Given the description of an element on the screen output the (x, y) to click on. 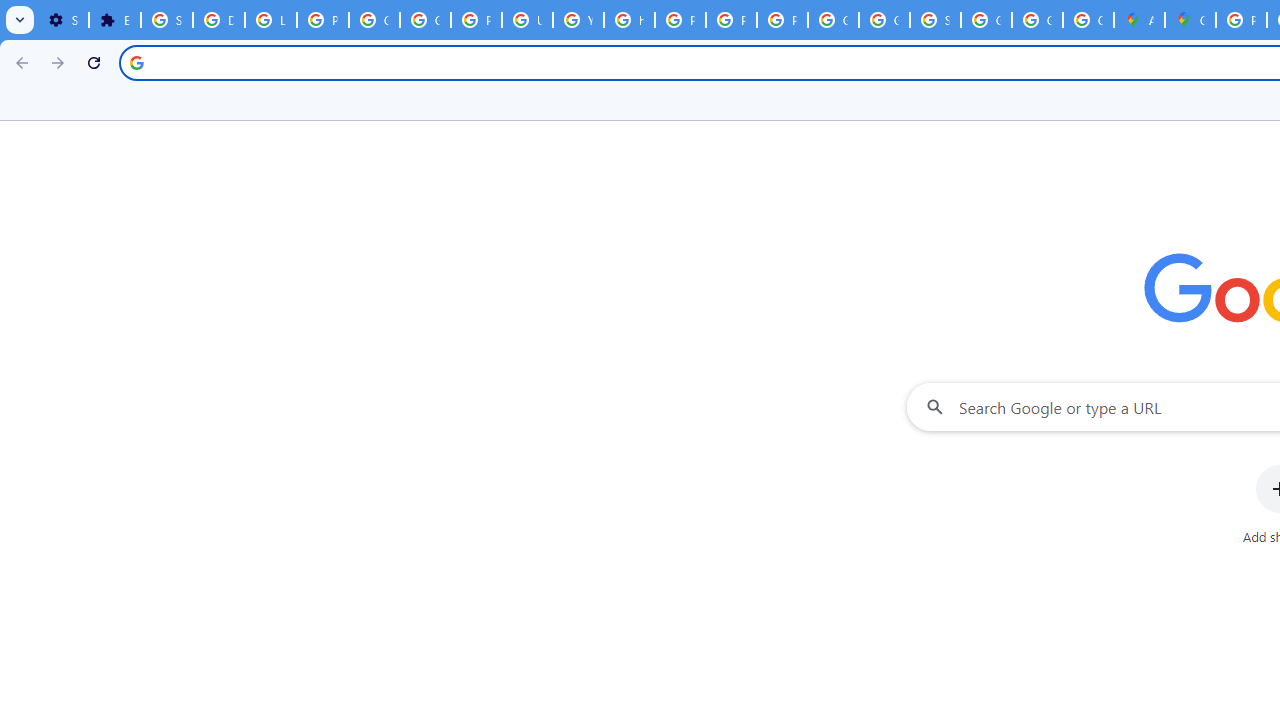
Policy Accountability and Transparency - Transparency Center (1241, 20)
Sign in - Google Accounts (166, 20)
Google Account Help (424, 20)
Sign in - Google Accounts (935, 20)
Google Account Help (374, 20)
